Given the description of an element on the screen output the (x, y) to click on. 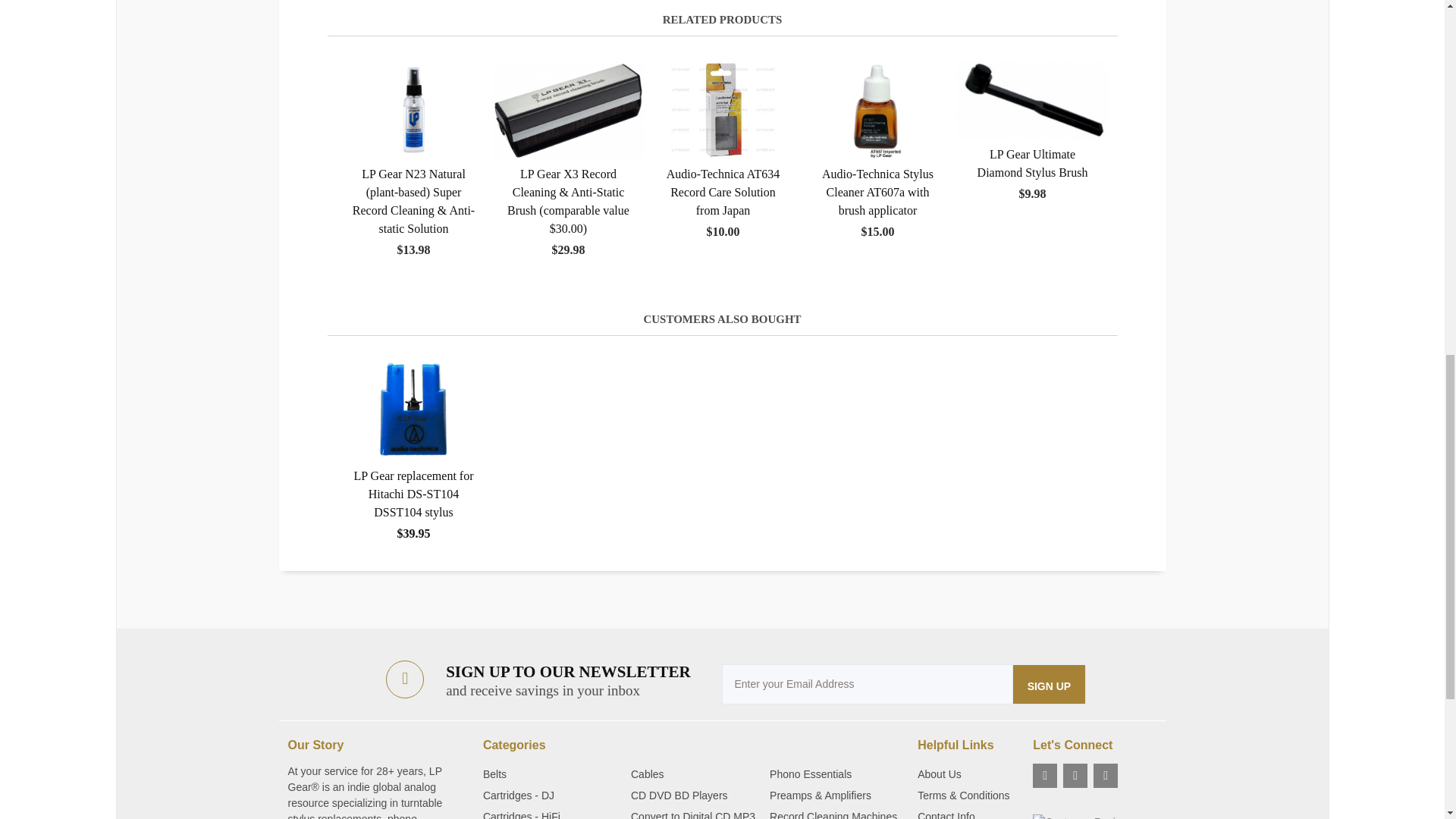
LP Gear Ultimate Diamond Stylus Brush (1032, 131)
Sign Up (1049, 684)
Audio-Technica AT634 Record Care Solution from Japan (722, 109)
LP Gear Ultimate Diamond Stylus Brush (1032, 99)
